Given the description of an element on the screen output the (x, y) to click on. 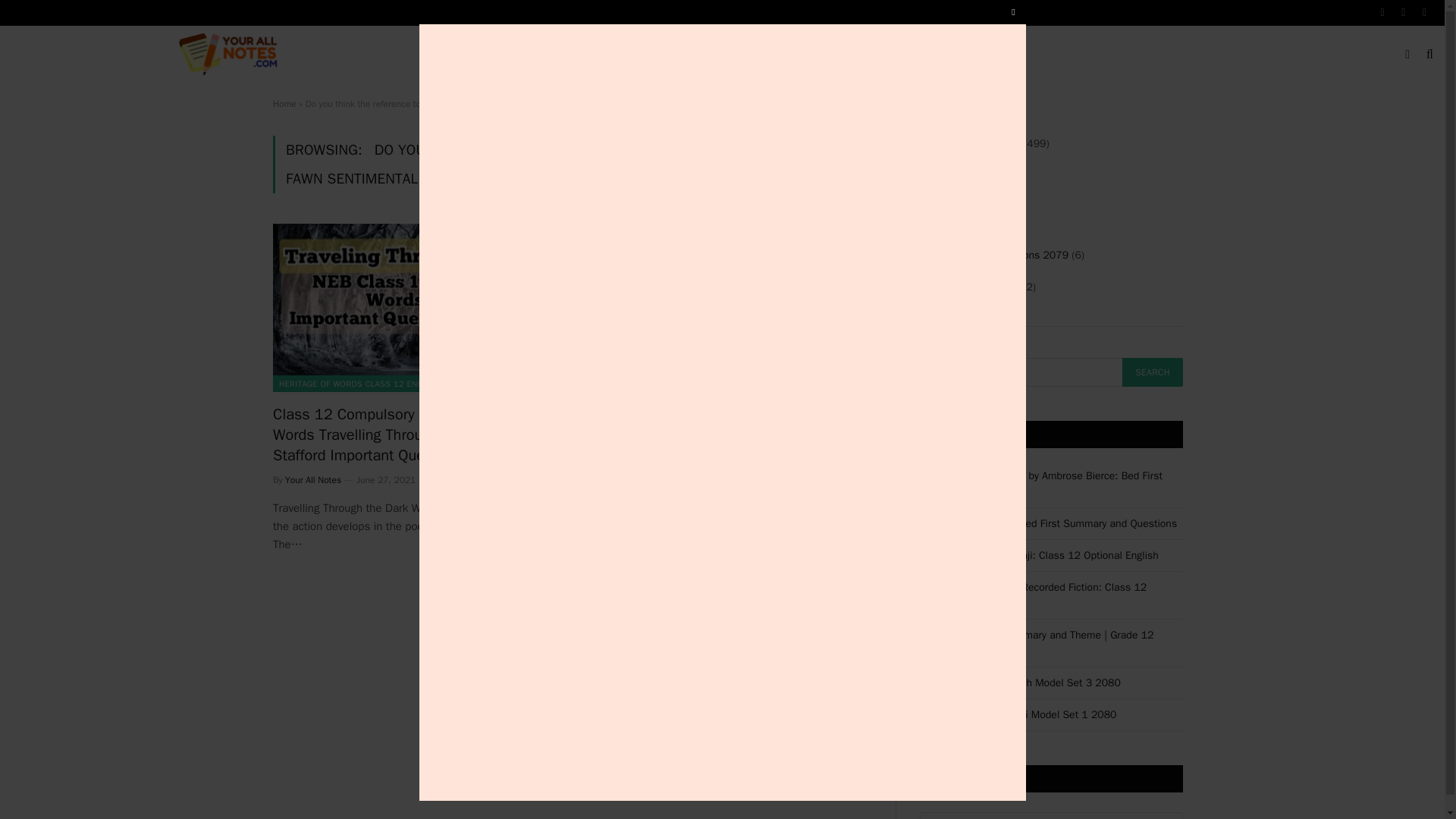
Home (491, 54)
Your All Notes (230, 54)
Search (1152, 371)
Search (1152, 371)
Routine (825, 54)
Results (761, 54)
Switch to Dark Design - easier on eyes. (1406, 54)
Announcements (677, 54)
Browse Notes (571, 54)
